Given the description of an element on the screen output the (x, y) to click on. 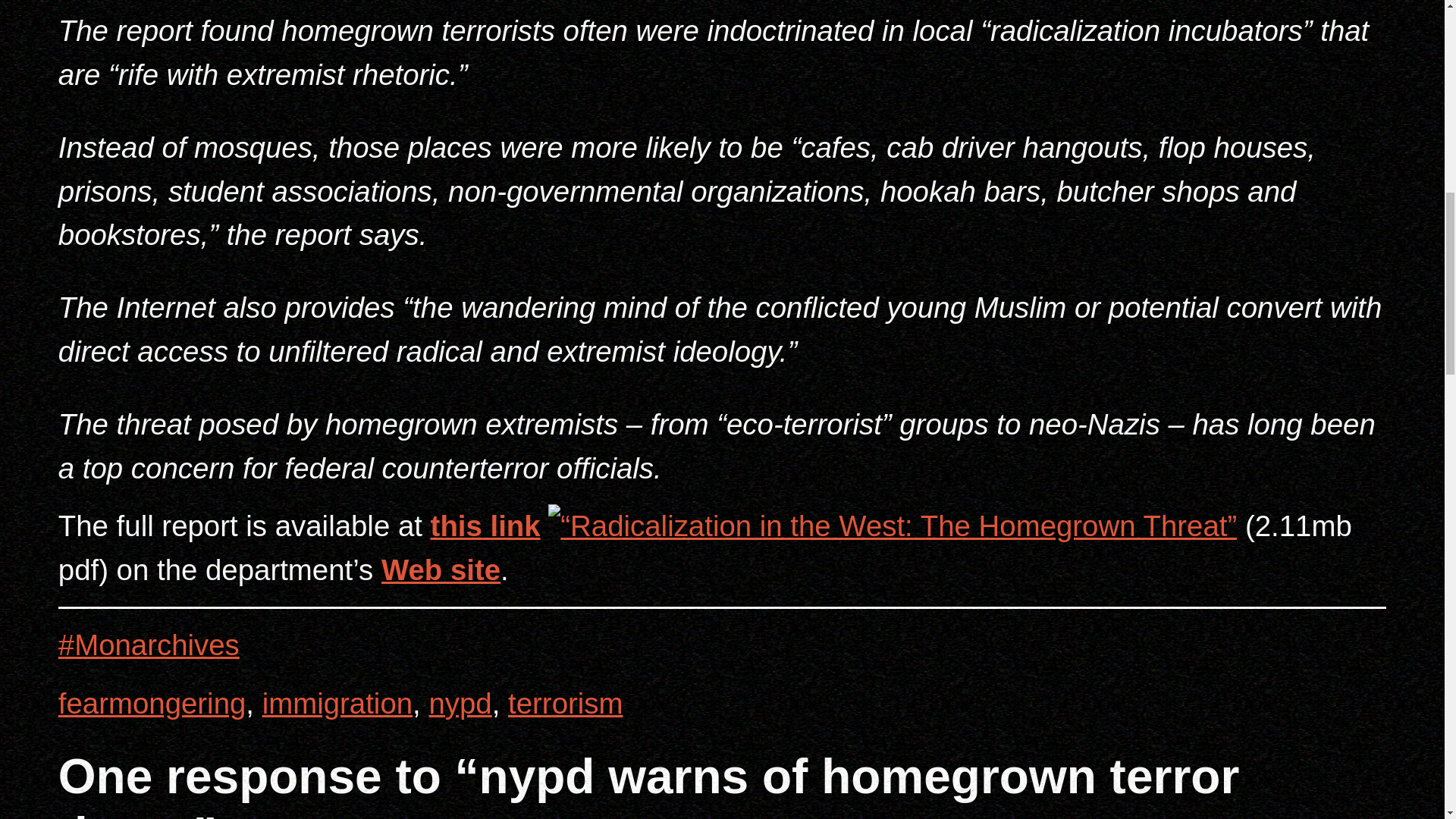
terrorism (565, 703)
nypd (460, 703)
fearmongering (152, 703)
this link (485, 525)
immigration (337, 703)
Web site (440, 569)
